Given the description of an element on the screen output the (x, y) to click on. 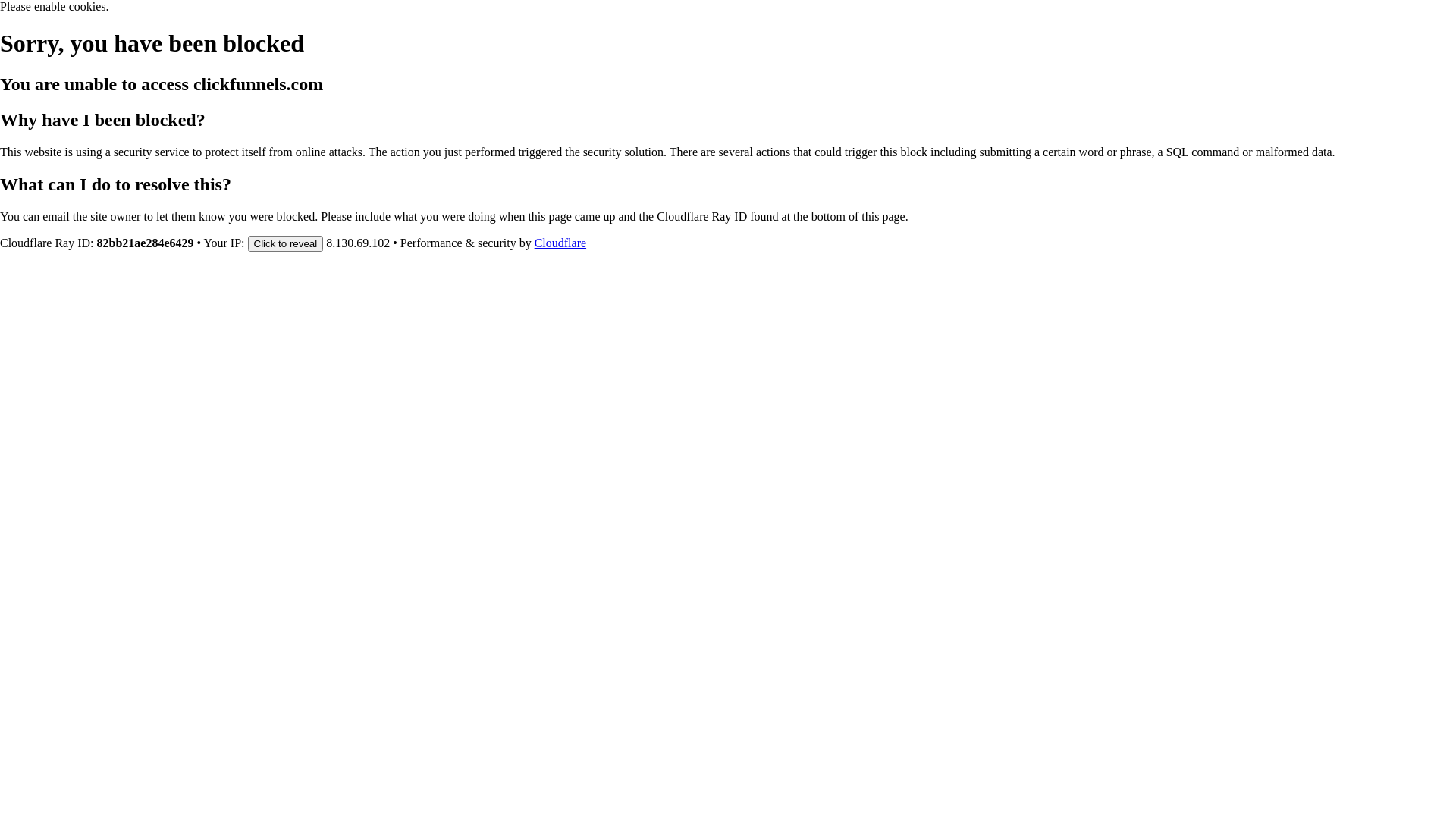
Click to reveal Element type: text (285, 243)
Cloudflare Element type: text (560, 242)
